Given the description of an element on the screen output the (x, y) to click on. 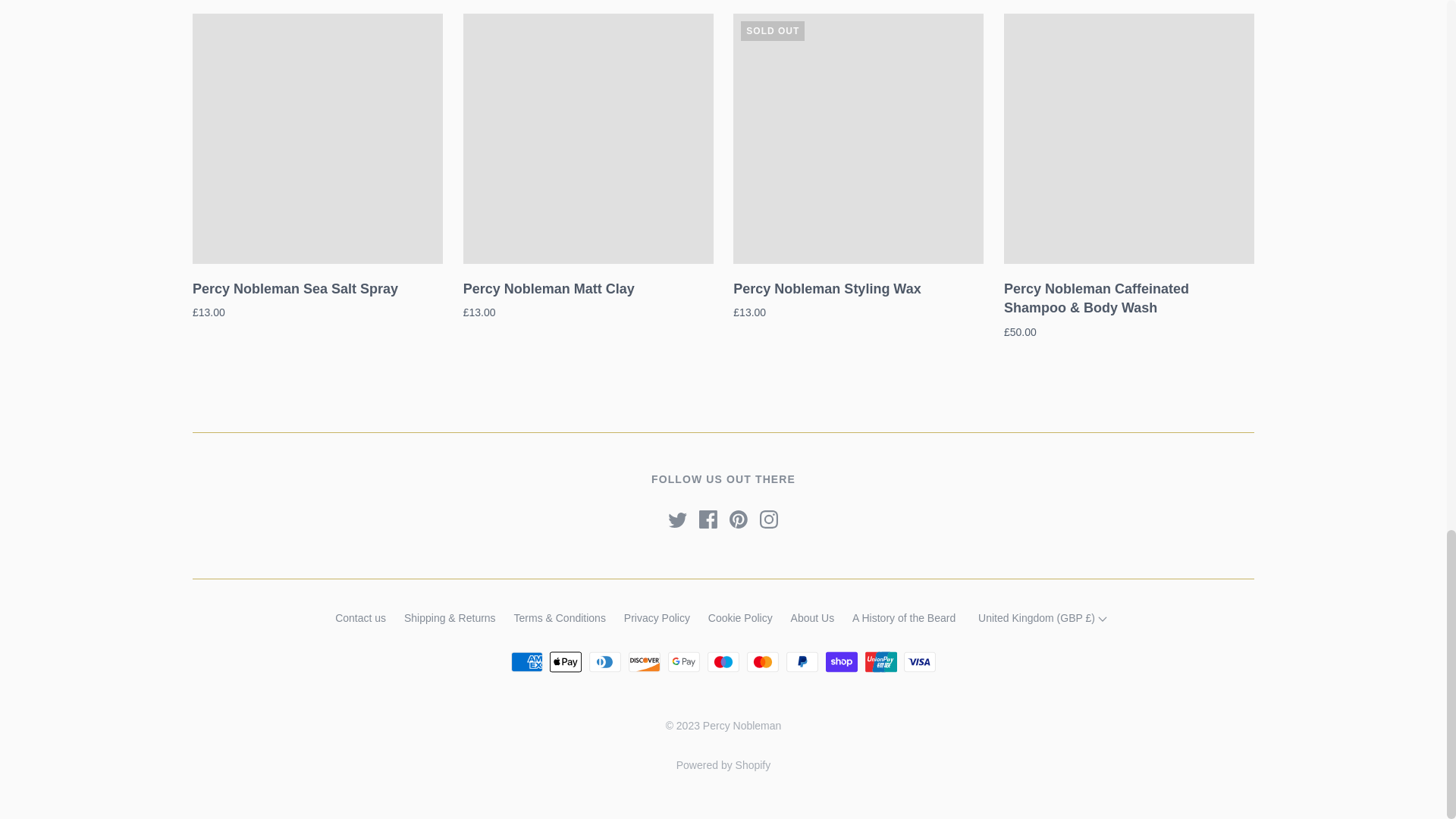
Pinterest Icon (738, 519)
Twitter Icon (677, 519)
Facebook Icon (707, 519)
Diners Club (605, 661)
Apple Pay (565, 661)
American Express (527, 661)
Instagram Icon (768, 519)
